Given the description of an element on the screen output the (x, y) to click on. 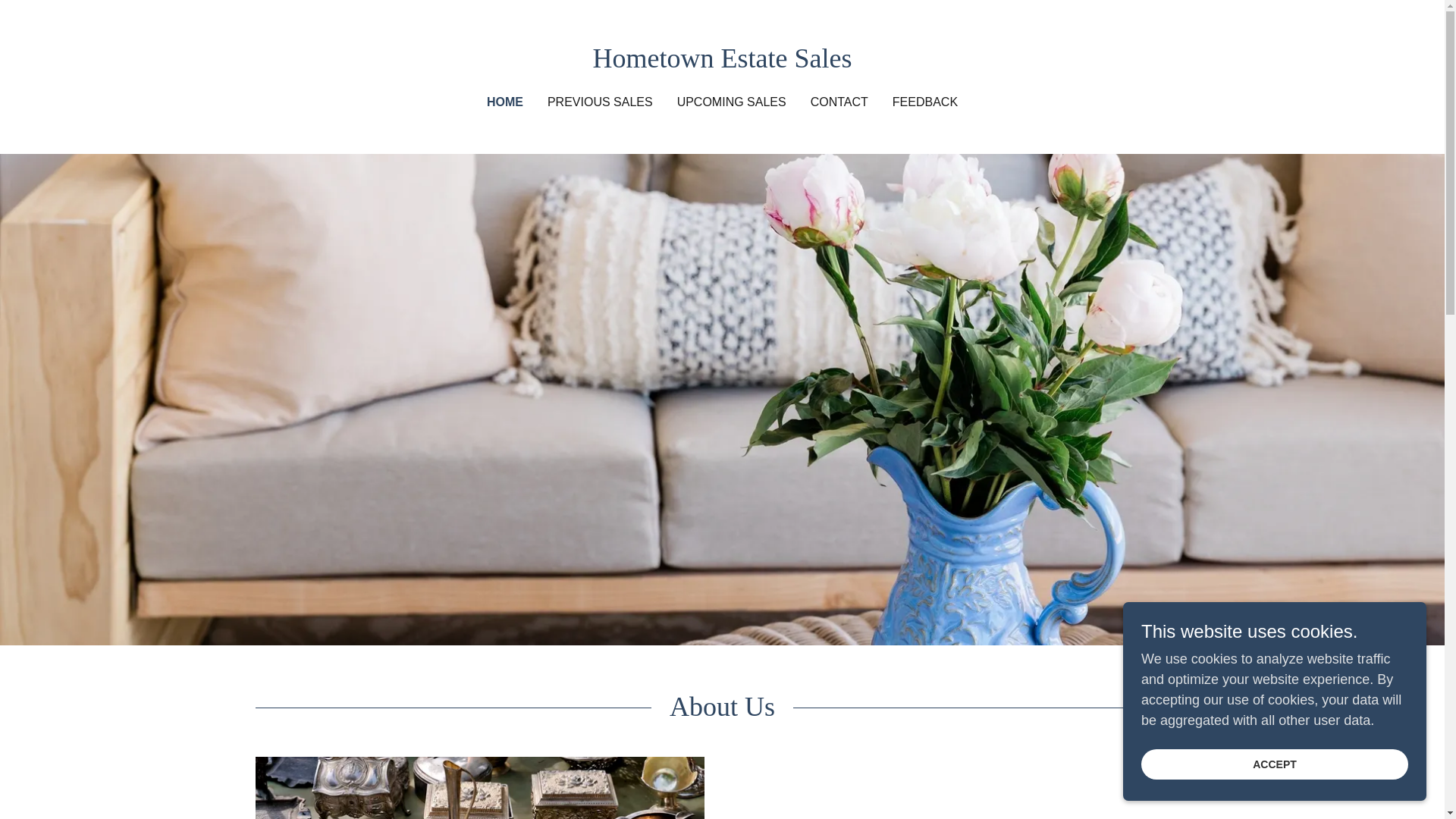
UPCOMING SALES (731, 102)
Hometown Estate Sales (721, 62)
FEEDBACK (925, 102)
Hometown Estate Sales (721, 62)
ACCEPT (1274, 764)
PREVIOUS SALES (600, 102)
HOME (504, 102)
CONTACT (839, 102)
